Given the description of an element on the screen output the (x, y) to click on. 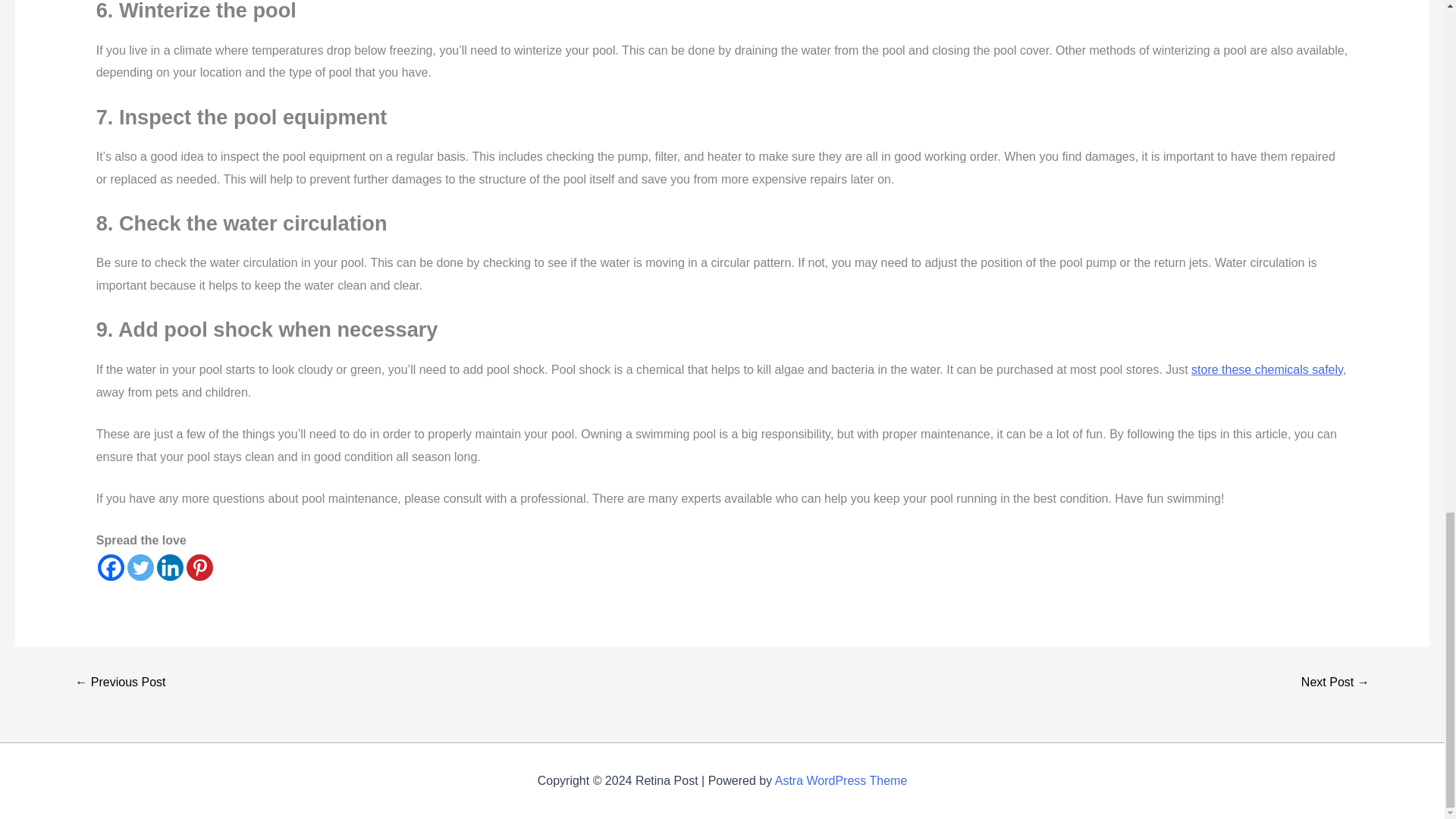
Twitter (141, 567)
Astra WordPress Theme (840, 780)
store these chemicals safely (1266, 369)
Flipping Homes: The Best Way to Increase Business Profits (119, 682)
Pinterest (199, 567)
Linkedin (170, 567)
Facebook (110, 567)
